Given the description of an element on the screen output the (x, y) to click on. 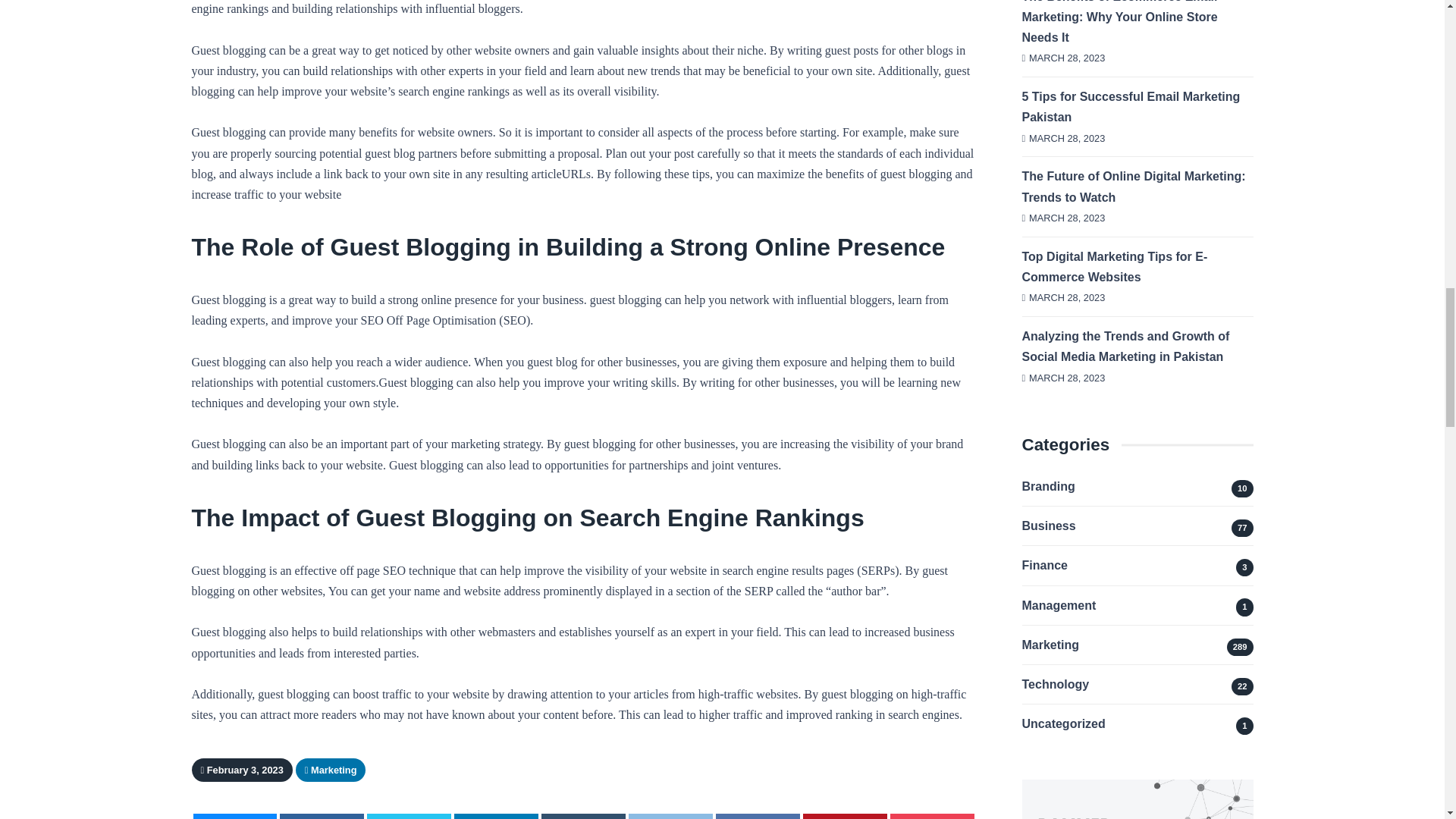
TUMBLR (583, 816)
EMAIL (234, 816)
POCKET (931, 816)
TWITTER (408, 816)
FACEBOOK (321, 816)
PINTEREST (844, 816)
Marketing (332, 768)
REDDIT (670, 816)
VK (757, 816)
LINKEDIN (496, 816)
